Given the description of an element on the screen output the (x, y) to click on. 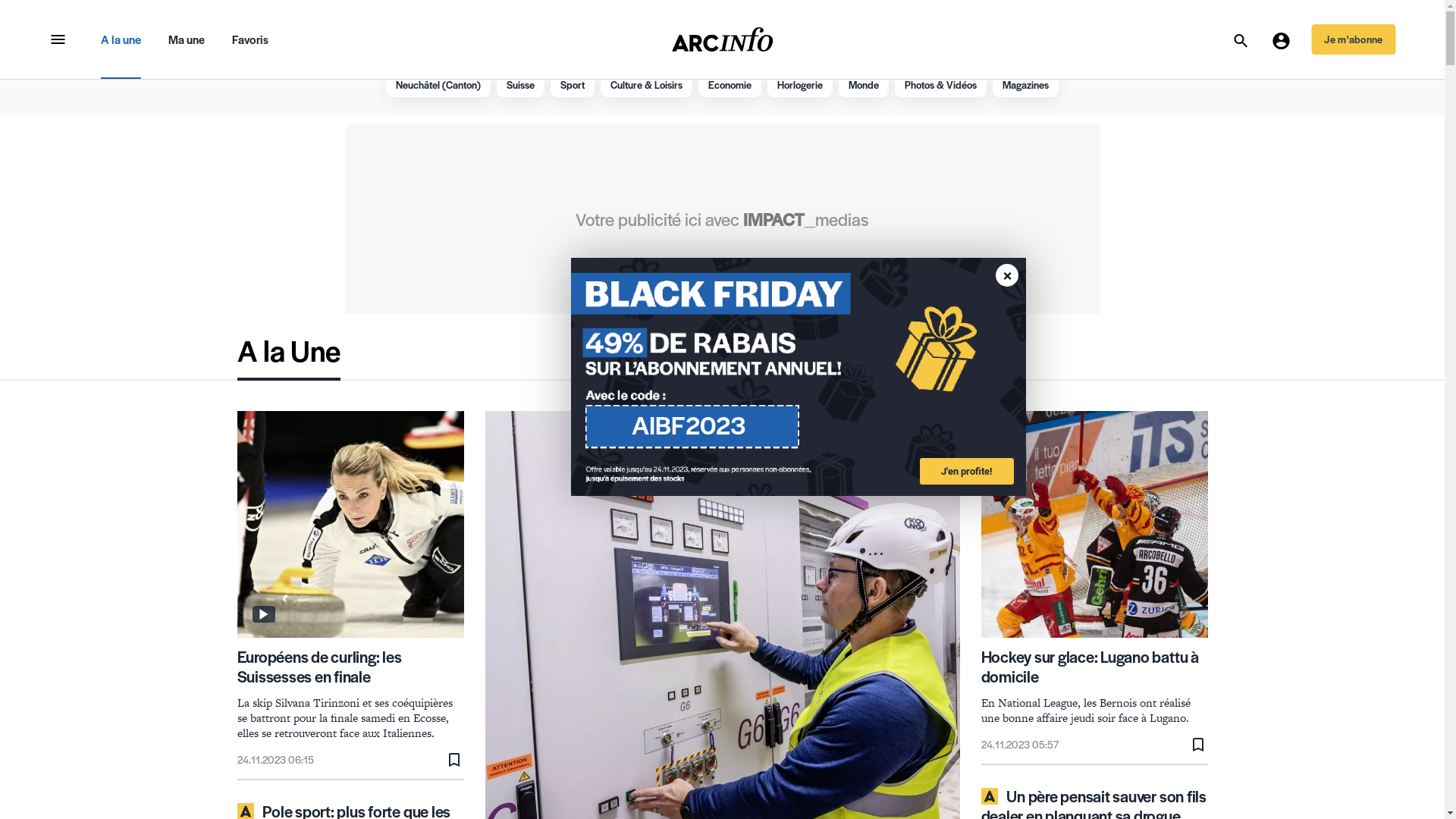
Accueil Element type: hover (722, 39)
Je m'abonne Element type: text (1353, 39)
Monde Element type: text (863, 84)
Suisse Element type: text (520, 84)
J'en profite! Element type: text (965, 470)
Ma une Element type: text (186, 39)
Favoris Element type: text (250, 39)
Sport Element type: text (572, 84)
Culture & Loisirs Element type: text (646, 84)
A la une Element type: text (120, 39)
Economie Element type: text (729, 84)
Horlogerie Element type: text (799, 84)
Magazines Element type: text (1025, 84)
